Given the description of an element on the screen output the (x, y) to click on. 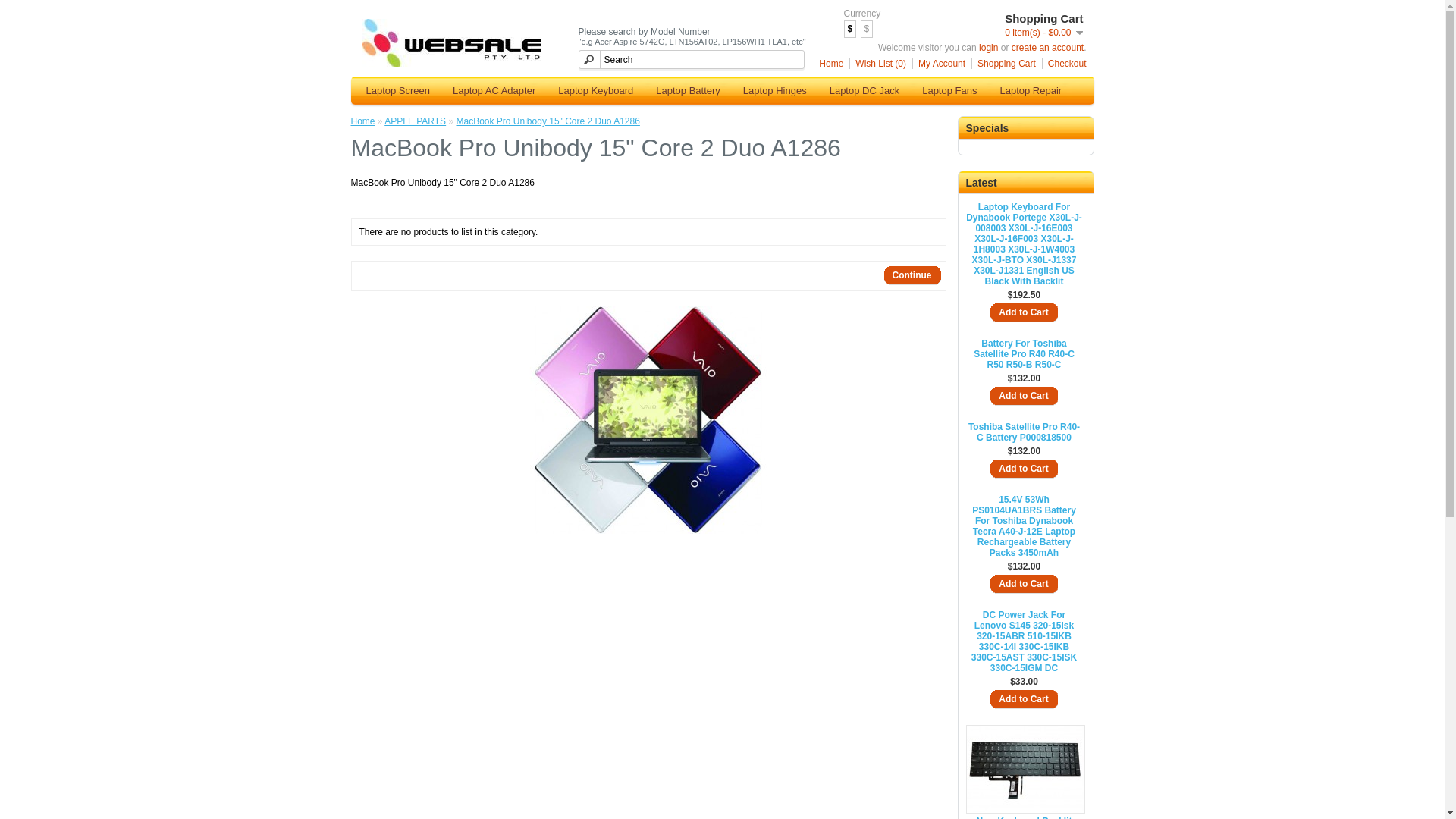
Add to Cart Element type: text (1023, 469)
Laptop Repair Element type: text (1030, 90)
Laptop Battery Element type: text (687, 90)
My Account Element type: text (938, 63)
Home Element type: text (828, 63)
Websale Laptop Parts Online Store Element type: hover (451, 42)
Shopping Cart Element type: text (1003, 63)
Toshiba Satellite Pro R40-C Battery P000818500 Element type: text (1024, 431)
Laptop DC Jack Element type: text (864, 90)
APPLE PARTS Element type: text (414, 121)
Laptop Screen Element type: text (398, 90)
Home Element type: text (362, 121)
Battery For Toshiba Satellite Pro R40 R40-C R50 R50-B R50-C Element type: text (1024, 354)
Add to Cart Element type: text (1023, 699)
Wish List (0) Element type: text (877, 63)
Search Element type: text (690, 59)
Add to Cart Element type: text (1023, 584)
Laptop Keyboard Element type: text (595, 90)
Add to Cart Element type: text (1023, 313)
Test Element type: hover (647, 419)
create an account Element type: text (1047, 47)
Continue Element type: text (912, 275)
0 item(s) - $0.00 Element type: text (1043, 32)
Laptop AC Adapter Element type: text (493, 90)
Laptop Hinges Element type: text (774, 90)
Laptop Fans Element type: text (949, 90)
$ Element type: text (849, 28)
$ Element type: text (866, 28)
login Element type: text (988, 47)
MacBook Pro Unibody 15" Core 2 Duo A1286 Element type: text (547, 121)
Add to Cart Element type: text (1023, 396)
Checkout Element type: text (1063, 63)
